Given the description of an element on the screen output the (x, y) to click on. 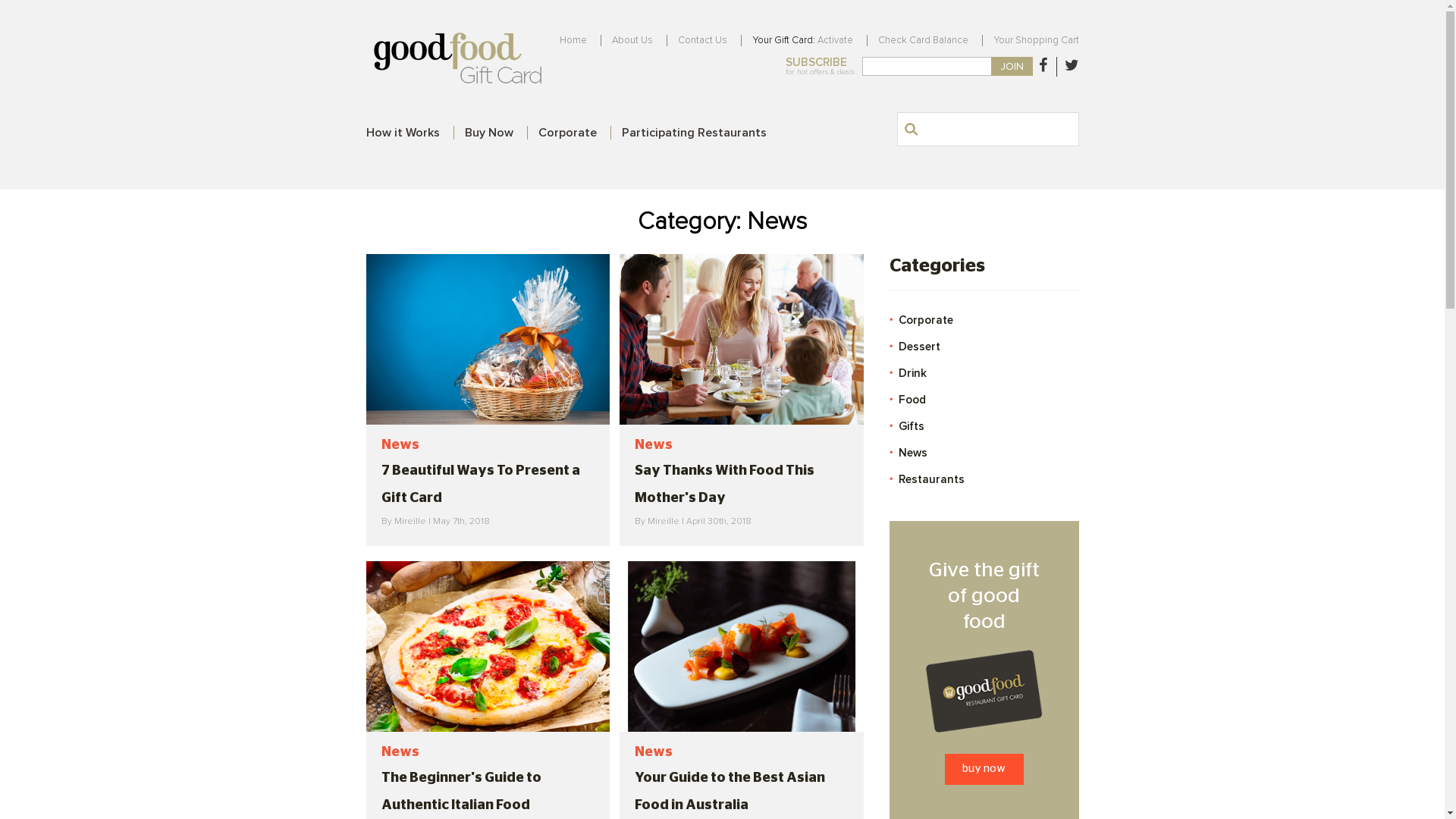
Search Element type: text (910, 129)
Activate Element type: text (835, 40)
Food Element type: text (983, 399)
News Element type: text (399, 445)
Home Element type: text (572, 40)
Gifts Element type: text (983, 425)
News Element type: text (399, 752)
Buy Now Element type: text (488, 132)
Your Shopping Cart Element type: text (1036, 40)
Drink Element type: text (983, 372)
Corporate Element type: text (567, 132)
buy now Element type: text (983, 768)
7 Beautiful Ways To Present a Gift Card Element type: text (479, 484)
Your Guide to the Best Asian Food in Australia Element type: text (729, 791)
Check Card Balance Element type: text (923, 40)
Restaurants Element type: text (983, 478)
News Element type: text (983, 452)
The Beginner's Guide to Authentic Italian Food Element type: text (460, 791)
Contact Us Element type: text (702, 40)
News Element type: text (653, 445)
Say Thanks With Food This Mother's Day Element type: text (724, 484)
Corporate Element type: text (983, 319)
JOIN Element type: text (1011, 65)
Participating Restaurants Element type: text (693, 132)
Dessert Element type: text (983, 346)
News Element type: text (653, 752)
How it Works Element type: text (402, 132)
About Us Element type: text (631, 40)
